Given the description of an element on the screen output the (x, y) to click on. 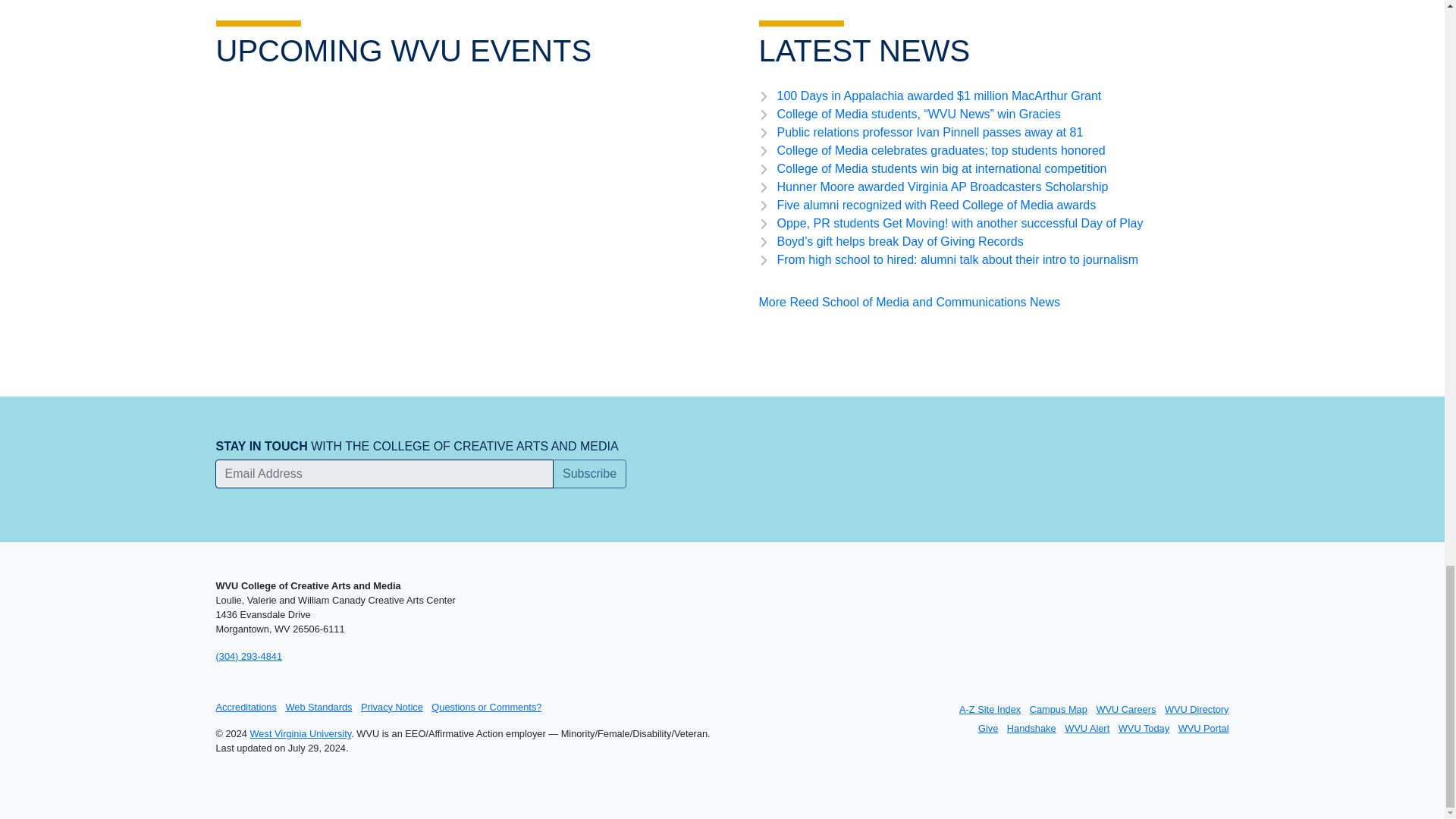
Subscribe (589, 473)
